Given the description of an element on the screen output the (x, y) to click on. 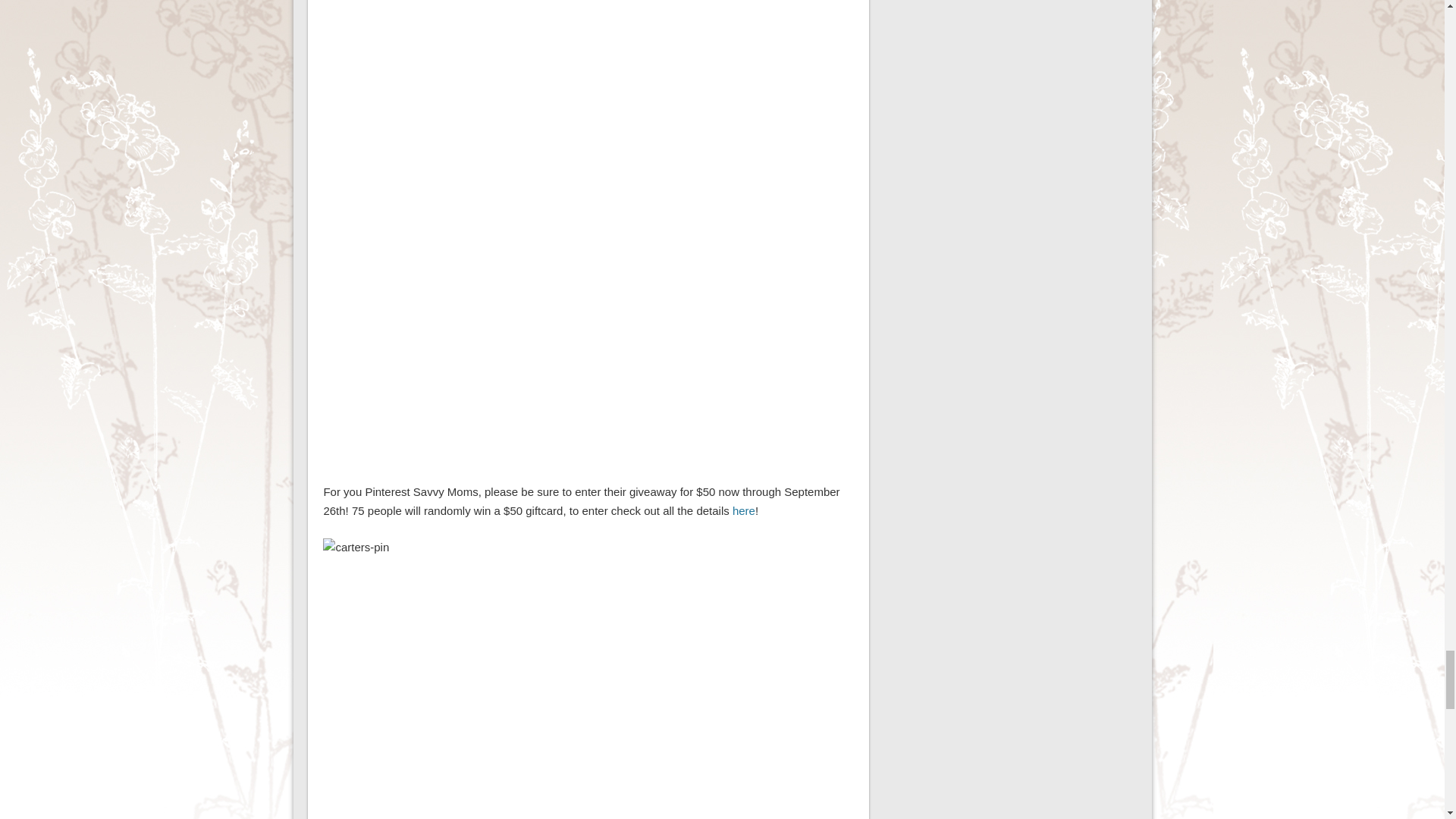
here (743, 510)
